Given the description of an element on the screen output the (x, y) to click on. 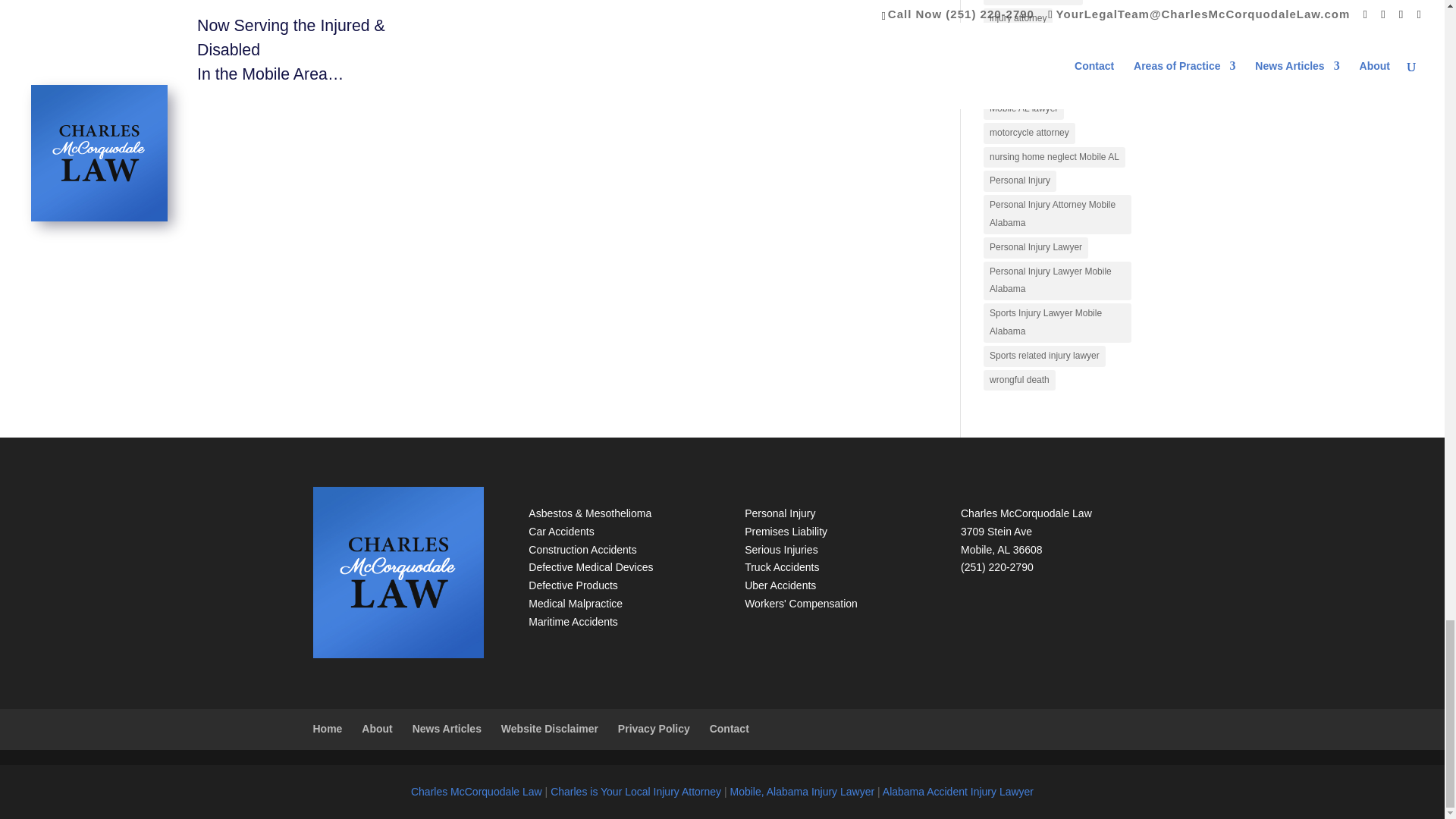
Best Accident Injury Lawyer in ALabama (957, 791)
Local Injury Attorney in Mobile, Alabama (635, 791)
Best Injury Lawyer in Mobile, AL (802, 791)
